Given the description of an element on the screen output the (x, y) to click on. 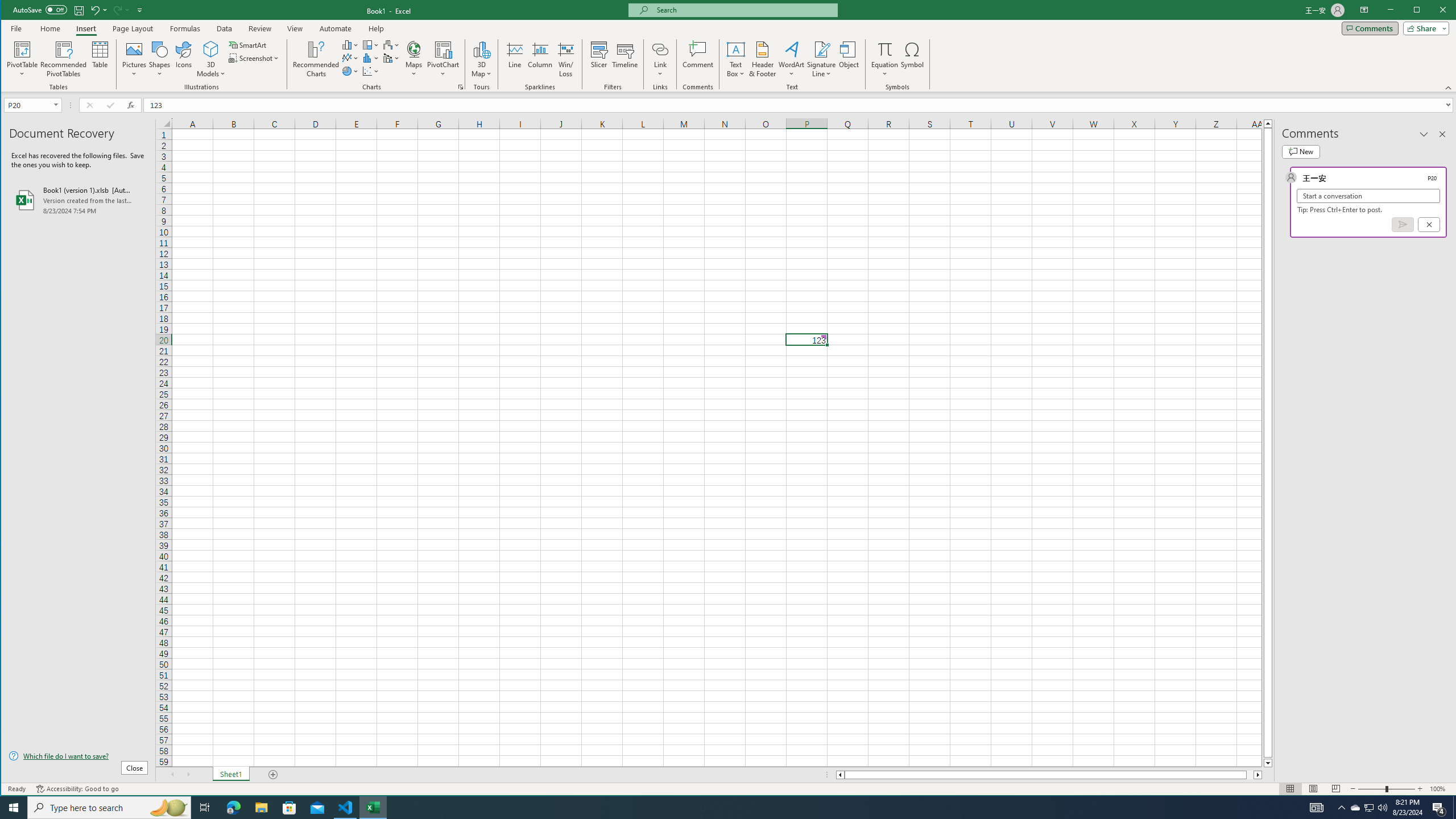
PivotChart (443, 59)
Insert Combo Chart (391, 57)
Notification Chevron (1341, 807)
3D Models (211, 59)
Equation (884, 59)
3D Map (481, 59)
Table (100, 59)
Screenshot (254, 57)
